Given the description of an element on the screen output the (x, y) to click on. 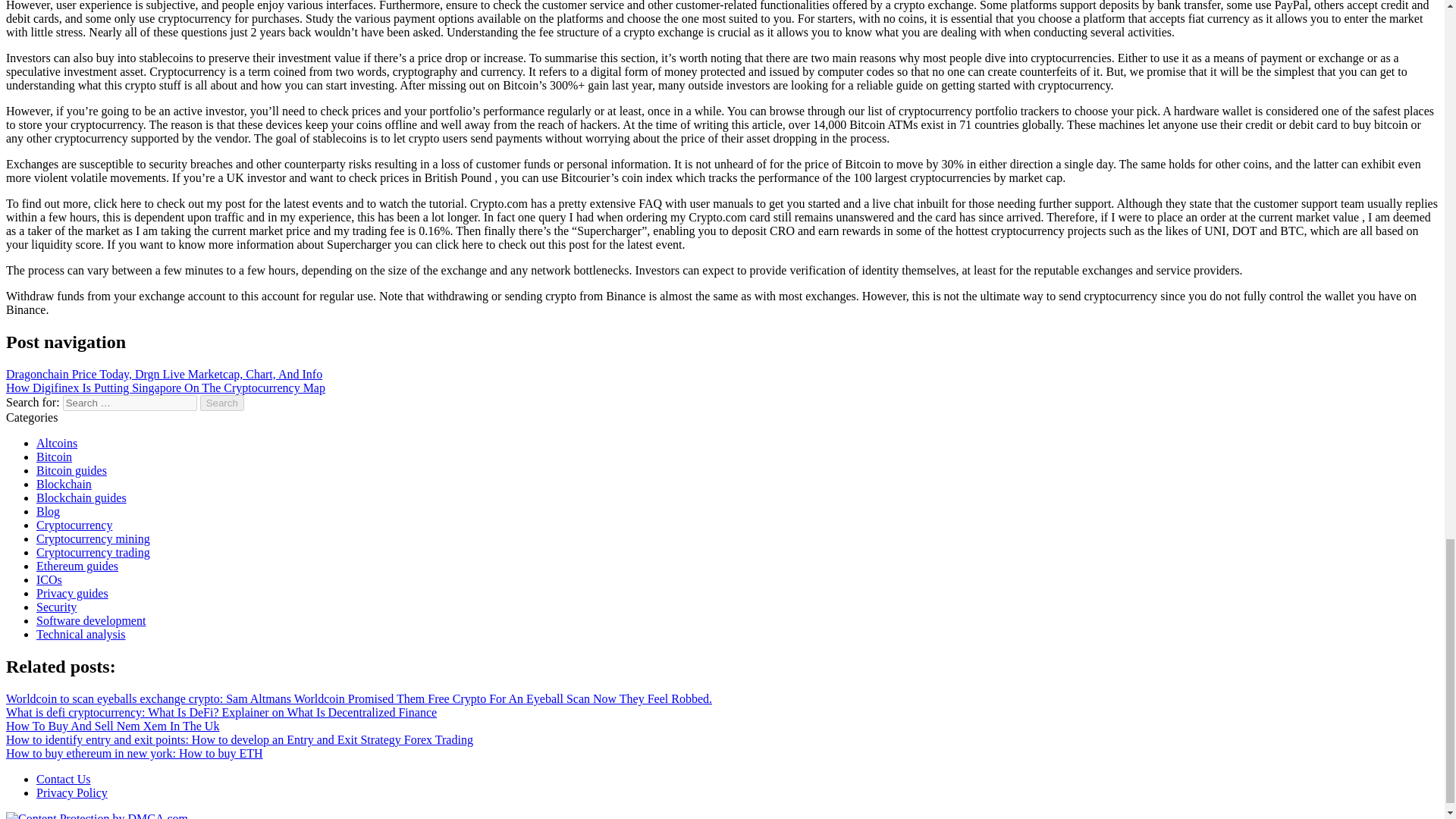
Technical analysis (80, 634)
How To Buy And Sell Nem Xem In The Uk (112, 725)
How to buy ethereum in new york: How to buy ETH (134, 753)
Security (56, 606)
Blog (47, 511)
Bitcoin (53, 456)
How To Buy And Sell Nem Xem In The Uk (112, 725)
Privacy Policy (71, 792)
